Given the description of an element on the screen output the (x, y) to click on. 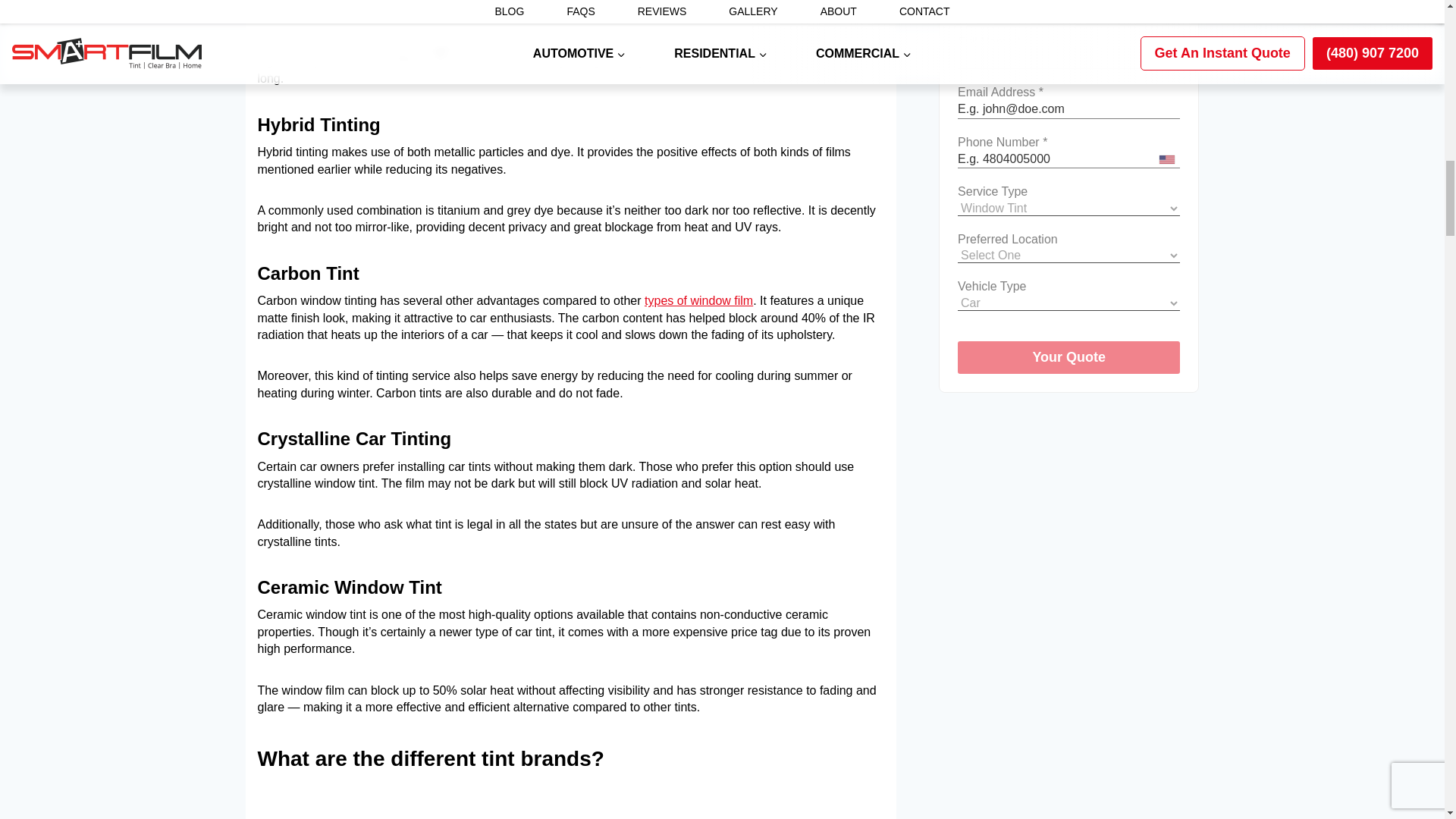
types of window film (698, 300)
